Given the description of an element on the screen output the (x, y) to click on. 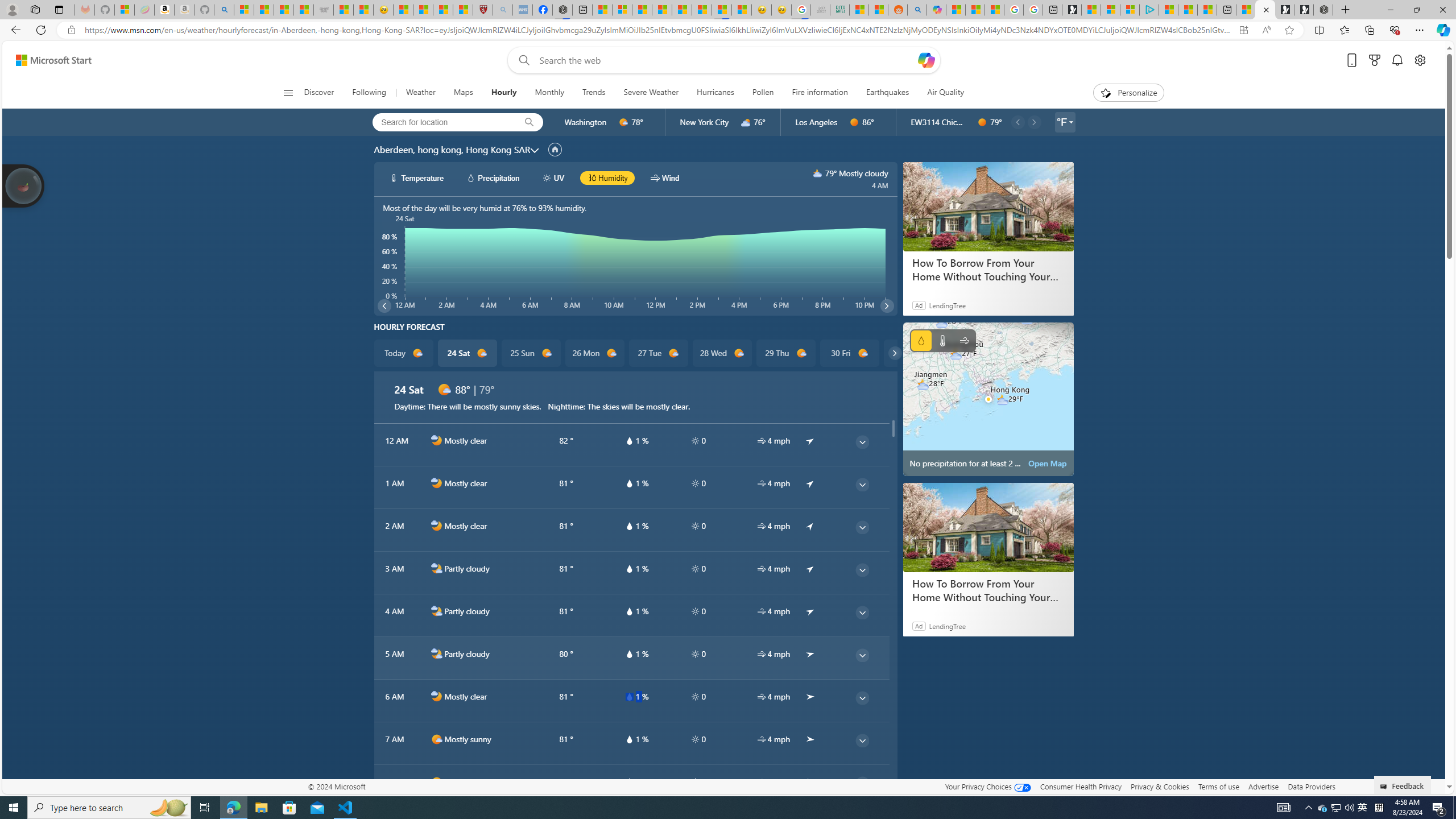
Temperature (942, 340)
Data Providers (1311, 786)
locationBar/search (529, 121)
